Given the description of an element on the screen output the (x, y) to click on. 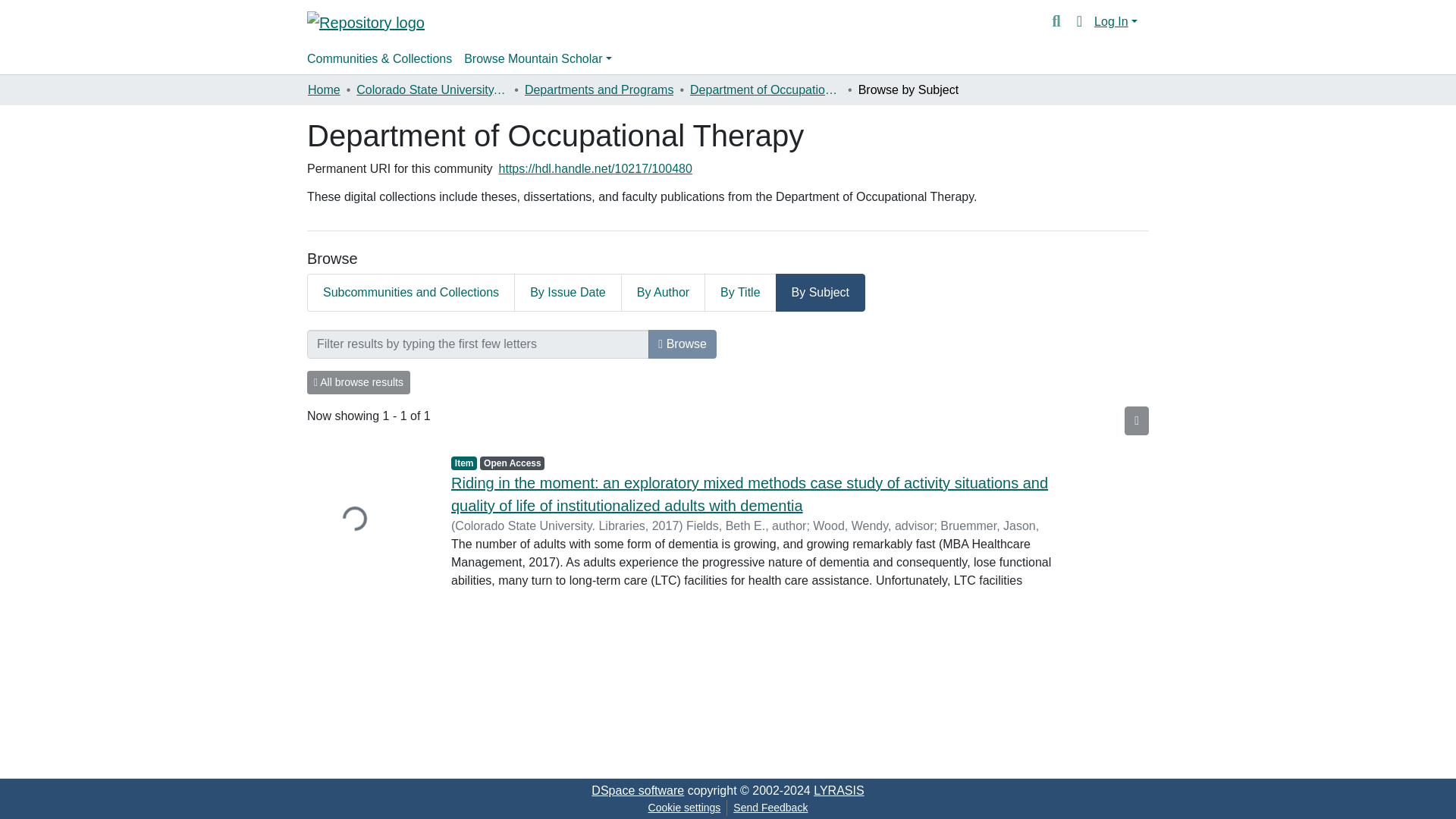
By Author (662, 292)
Subcommunities and Collections (411, 292)
Search (1055, 22)
Home (323, 90)
Departments and Programs (599, 90)
Colorado State University, Fort Collins (432, 90)
All browse results (358, 382)
By Issue Date (568, 292)
Log In (1115, 21)
Language switch (1079, 22)
By Title (740, 292)
By Subject (820, 292)
Department of Occupational Therapy (765, 90)
Loading... (367, 520)
